Given the description of an element on the screen output the (x, y) to click on. 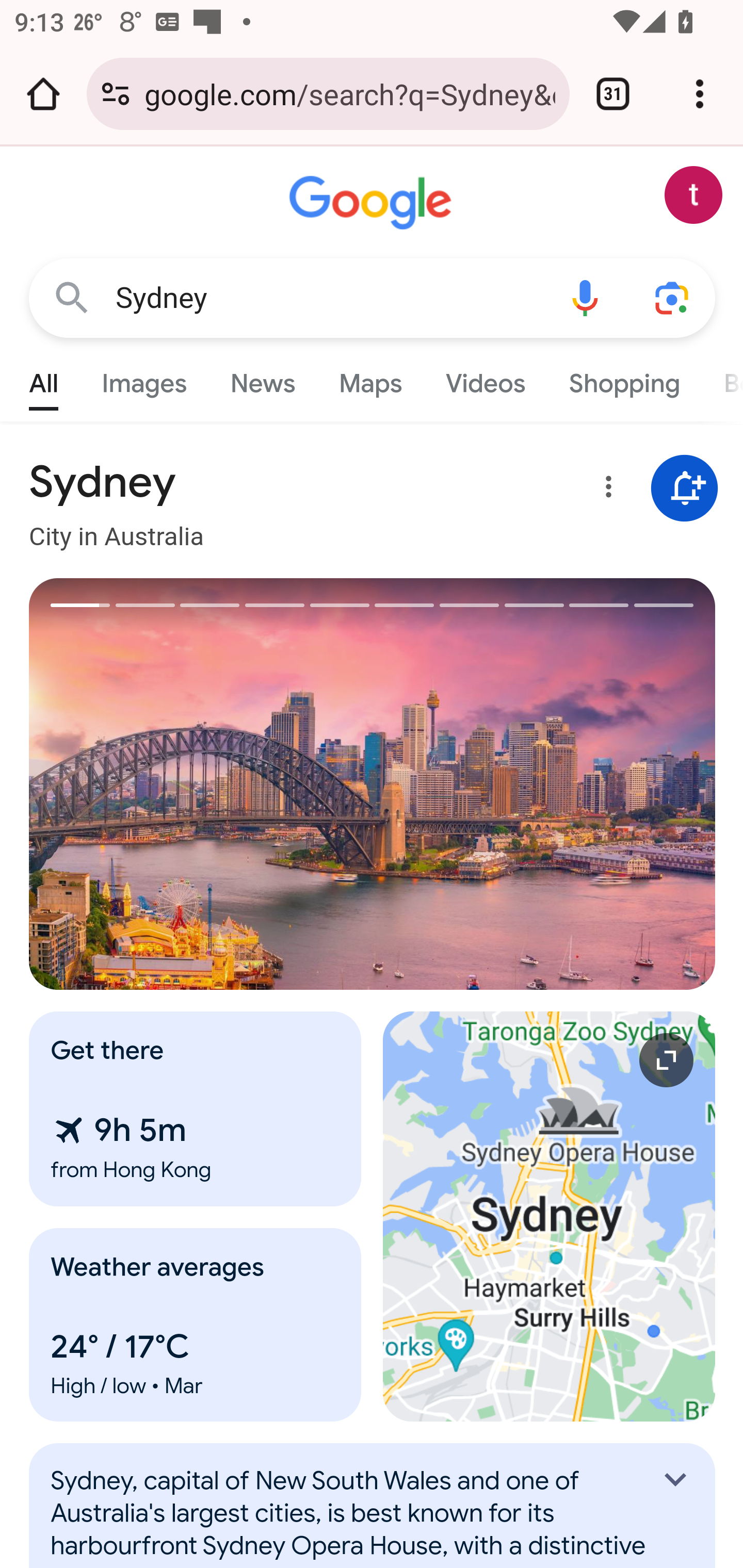
Open the home page (43, 93)
Connection is secure (115, 93)
Switch or close tabs (612, 93)
Customize and control Google Chrome (699, 93)
Google (372, 203)
Google Search (71, 296)
Search using your camera or photos (672, 296)
Sydney (328, 297)
Images (144, 378)
News (262, 378)
Maps (369, 378)
Videos (485, 378)
Shopping (623, 378)
Get notifications about Sydney (684, 489)
More options (605, 489)
Previous image (200, 783)
Next image (544, 783)
Expand map (549, 1216)
Weather averages 24° / 17°C High / low • Mar (195, 1324)
